Given the description of an element on the screen output the (x, y) to click on. 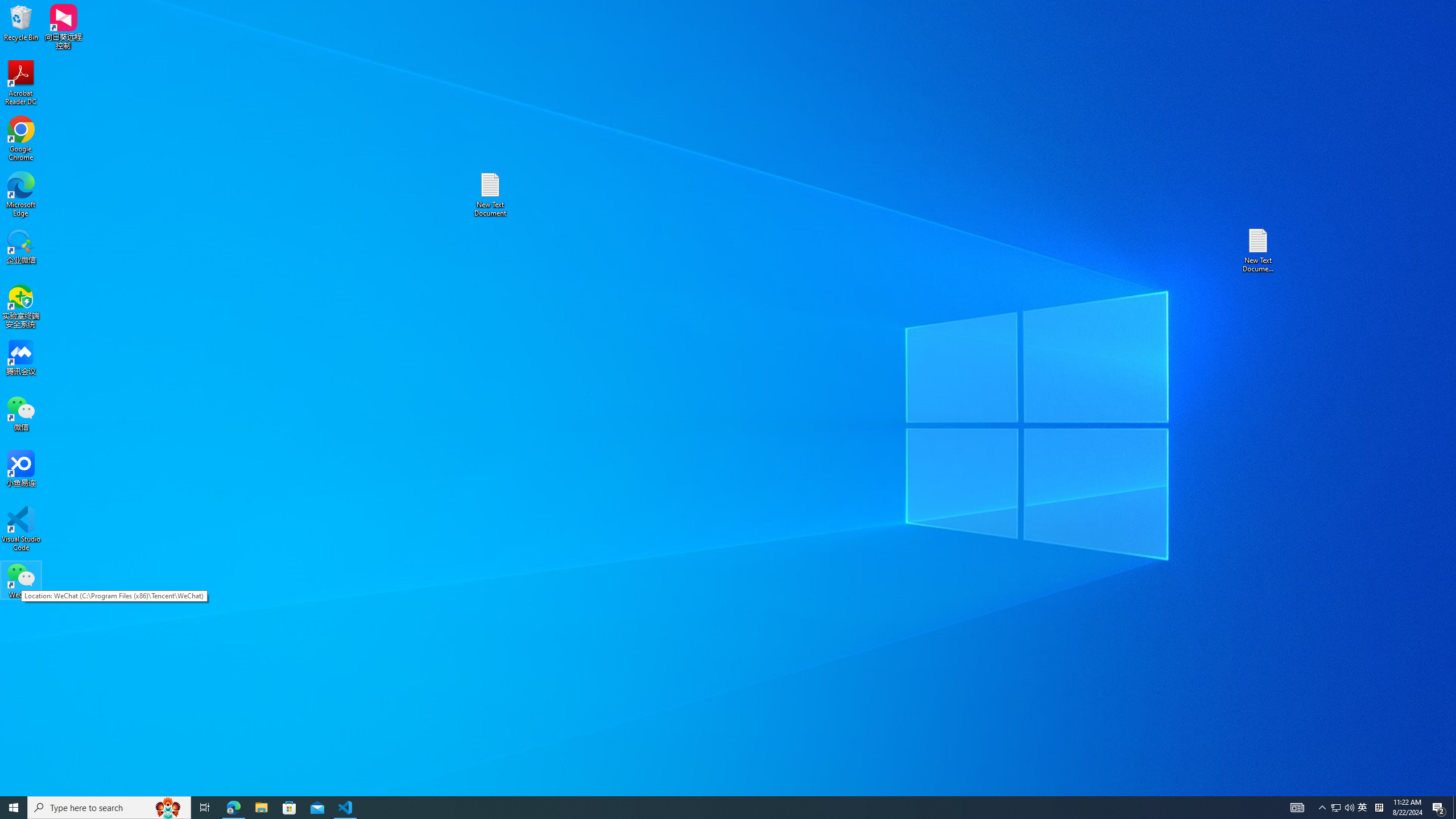
Acrobat Reader DC (21, 82)
Notification Chevron (1322, 807)
Action Center, 2 new notifications (1439, 807)
WeChat (21, 580)
Q2790: 100% (1349, 807)
Start (13, 807)
Show desktop (1454, 807)
Search highlights icon opens search home window (167, 807)
New Text Document (1335, 807)
